Given the description of an element on the screen output the (x, y) to click on. 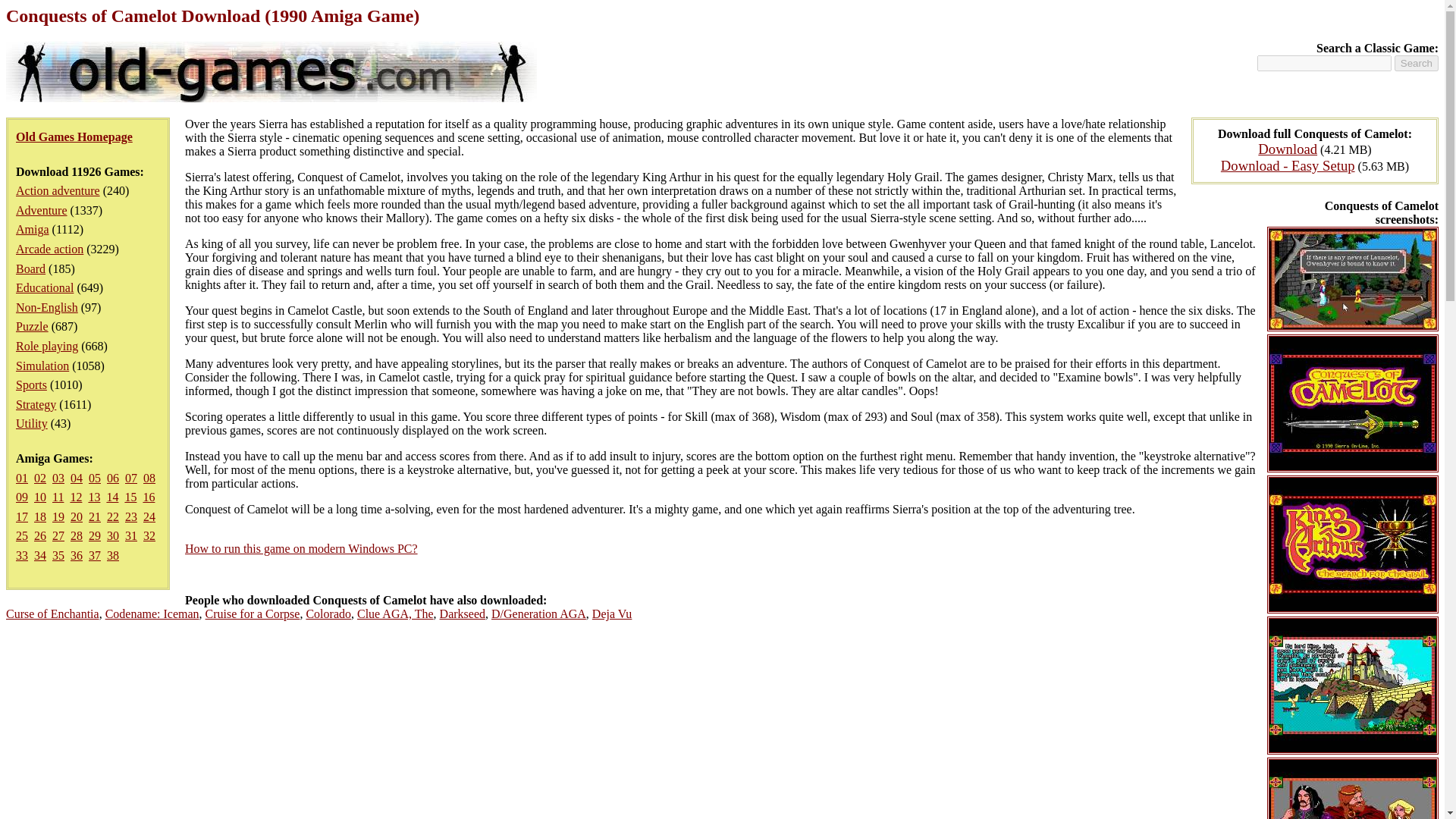
Strategy (36, 404)
Search (1416, 63)
Puzzle (32, 326)
09 (21, 496)
25 (21, 535)
10 (39, 496)
01 (21, 477)
20 (75, 516)
Sports (31, 384)
24 (148, 516)
17 (21, 516)
Board (30, 268)
Role playing (47, 345)
Action adventure (58, 190)
12 (75, 496)
